Given the description of an element on the screen output the (x, y) to click on. 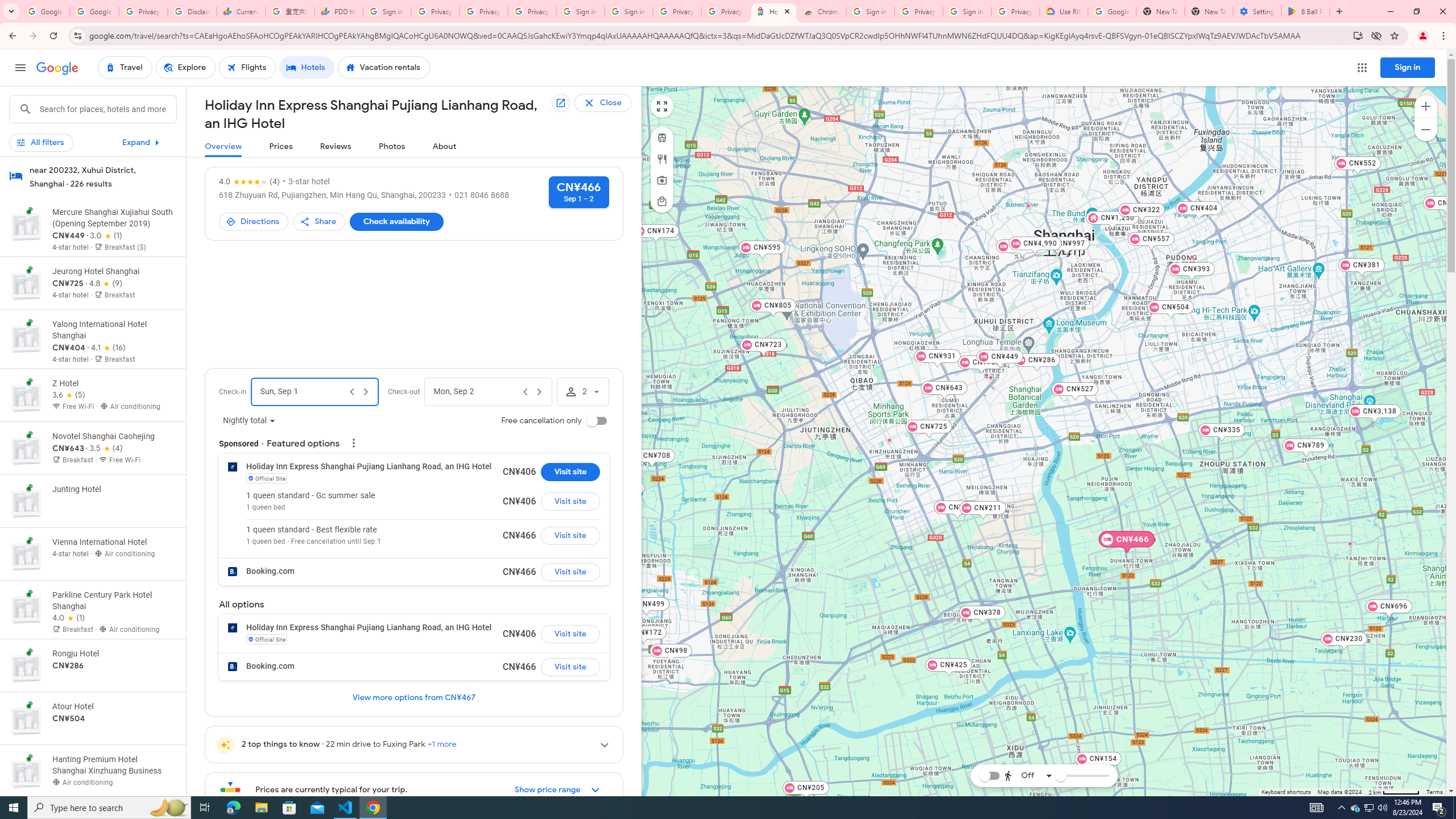
Privacy Checkup (532, 11)
Explore (185, 67)
4 out of 5 stars from 4 reviews (249, 181)
View prices for Junting Hotel (113, 540)
Open in new tab (560, 103)
Walk (1025, 718)
Currencies - Google Finance (240, 11)
New Tab (1208, 11)
